Given the description of an element on the screen output the (x, y) to click on. 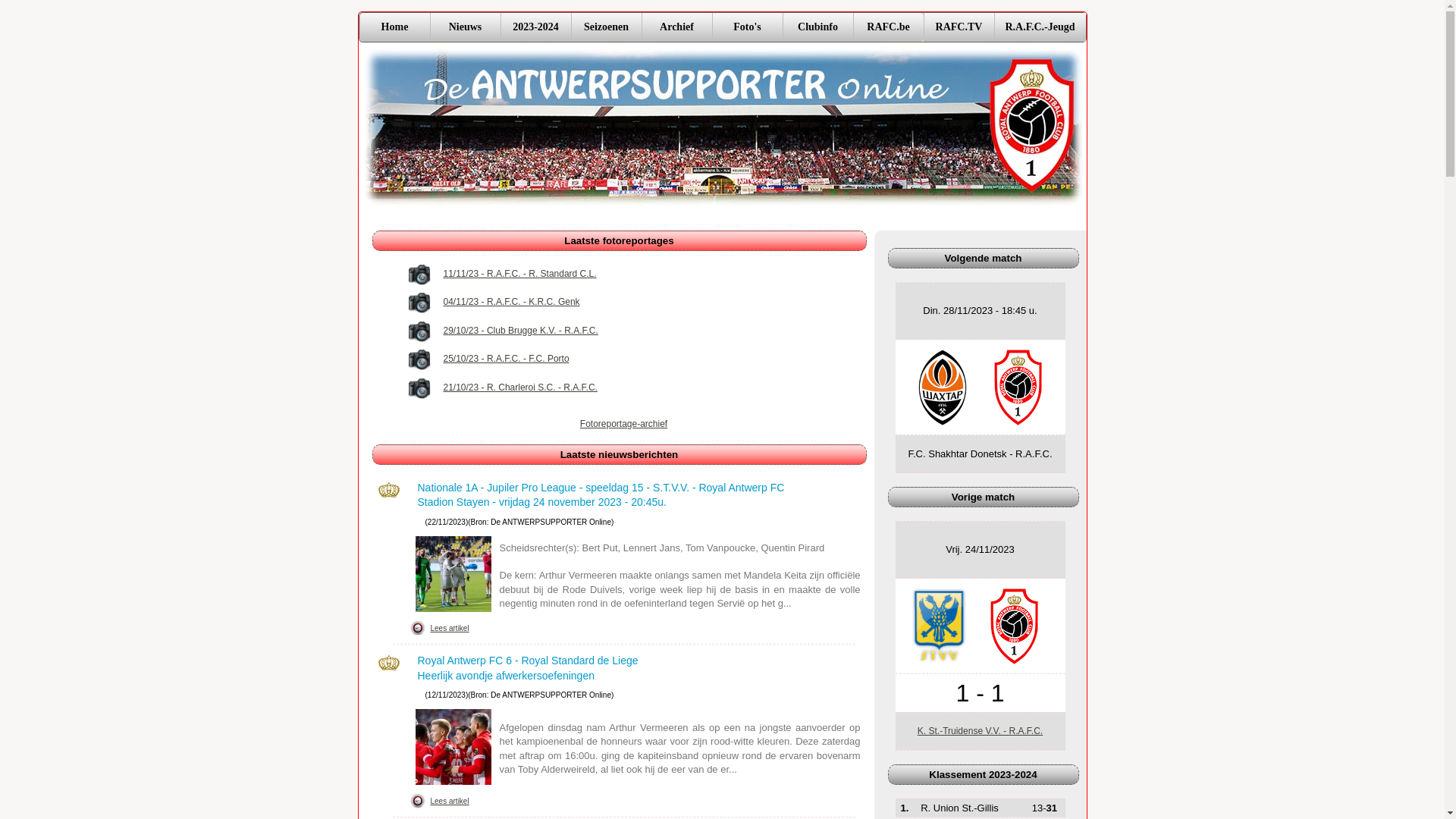
11/11/23 - R.A.F.C. - R. Standard C.L. Element type: text (520, 274)
K. St.-Truidense V.V. - R.A.F.C. Element type: text (980, 731)
Home Element type: text (394, 26)
RAFC.be Element type: text (887, 26)
Fotoreportage-archief Element type: text (623, 424)
RAFC.TV Element type: text (958, 26)
21/10/23 - R. Charleroi S.C. - R.A.F.C. Element type: text (520, 387)
Lees artikel Element type: text (448, 628)
Archief Element type: text (676, 26)
29/10/23 - Club Brugge K.V. - R.A.F.C. Element type: text (520, 330)
04/11/23 - R.A.F.C. - K.R.C. Genk Element type: text (511, 302)
25/10/23 - R.A.F.C. - F.C. Porto Element type: text (506, 359)
Nieuws Element type: text (464, 26)
Lees artikel Element type: text (448, 801)
2023-2024 Element type: text (535, 26)
Clubinfo Element type: text (817, 26)
R.A.F.C.-Jeugd Element type: text (1039, 26)
Foto's Element type: text (746, 26)
Seizoenen Element type: text (605, 26)
